Given the description of an element on the screen output the (x, y) to click on. 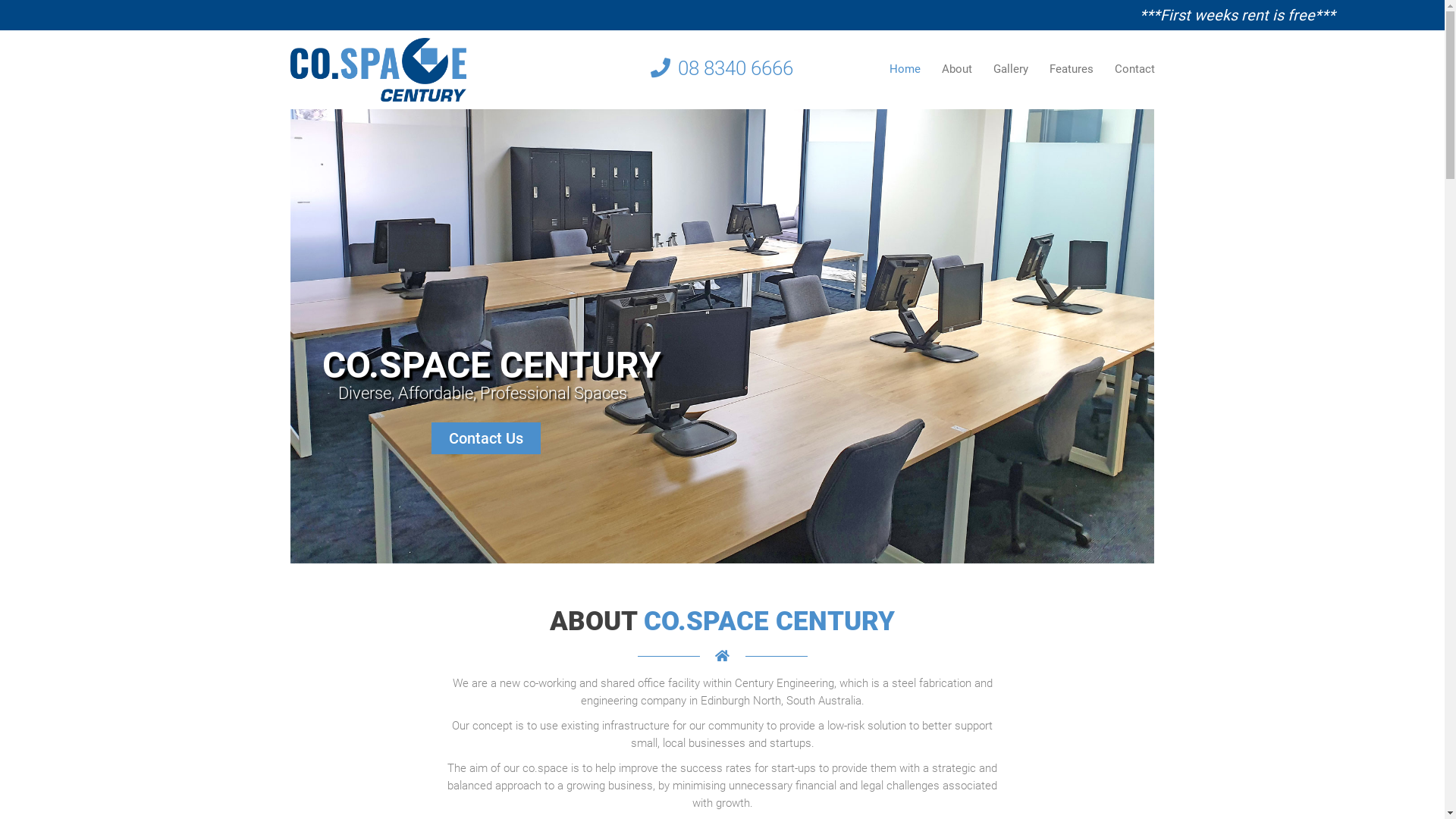
Home Element type: text (904, 68)
08 8340 6666 Element type: text (721, 67)
Contact Element type: text (1129, 68)
Contact Us Element type: text (484, 438)
Features Element type: text (1071, 68)
Gallery Element type: text (1010, 68)
About Element type: text (956, 68)
